Given the description of an element on the screen output the (x, y) to click on. 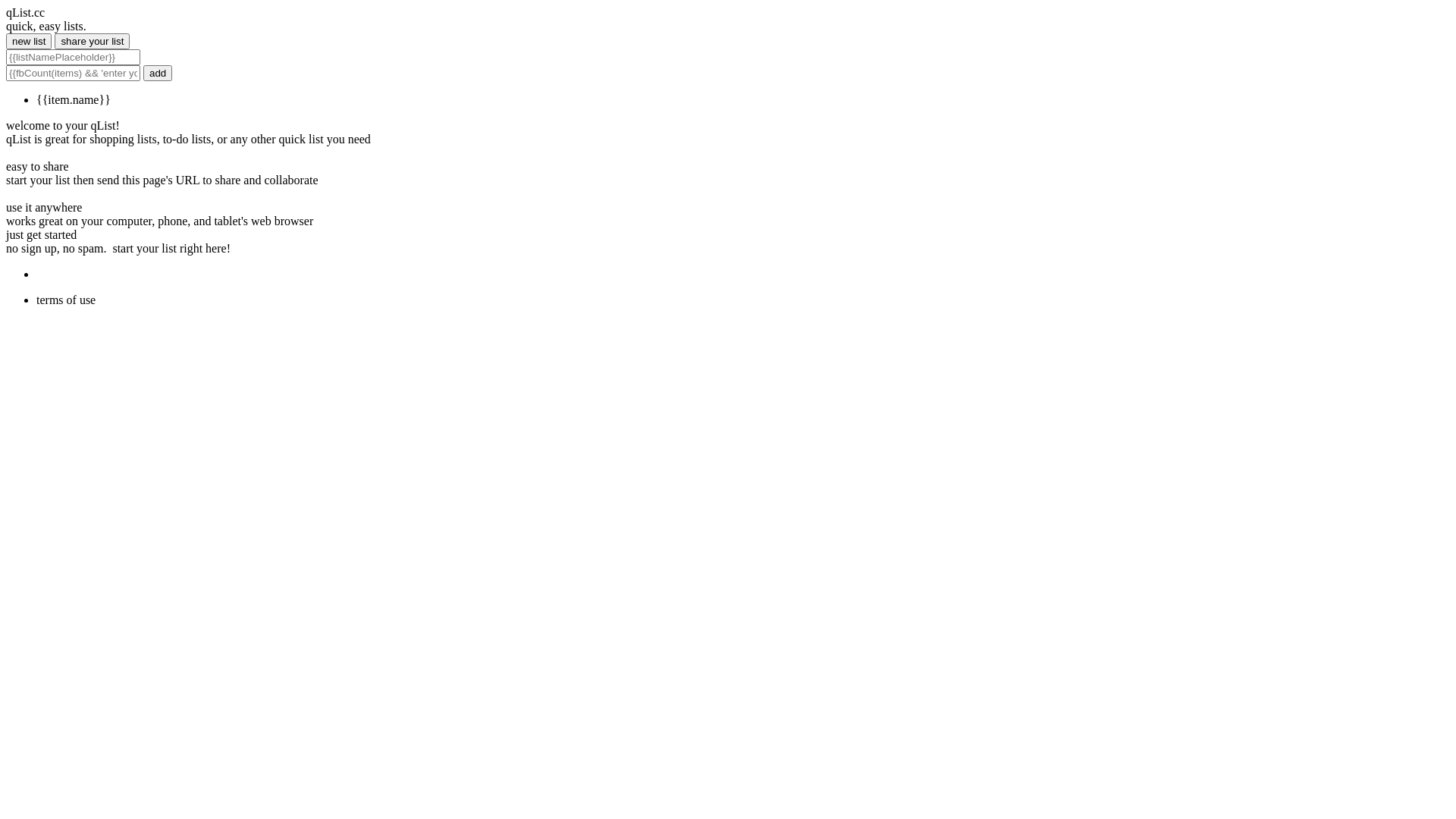
terms of use Element type: text (65, 299)
new list Element type: text (28, 41)
share your list Element type: text (91, 41)
add Element type: text (157, 73)
